Given the description of an element on the screen output the (x, y) to click on. 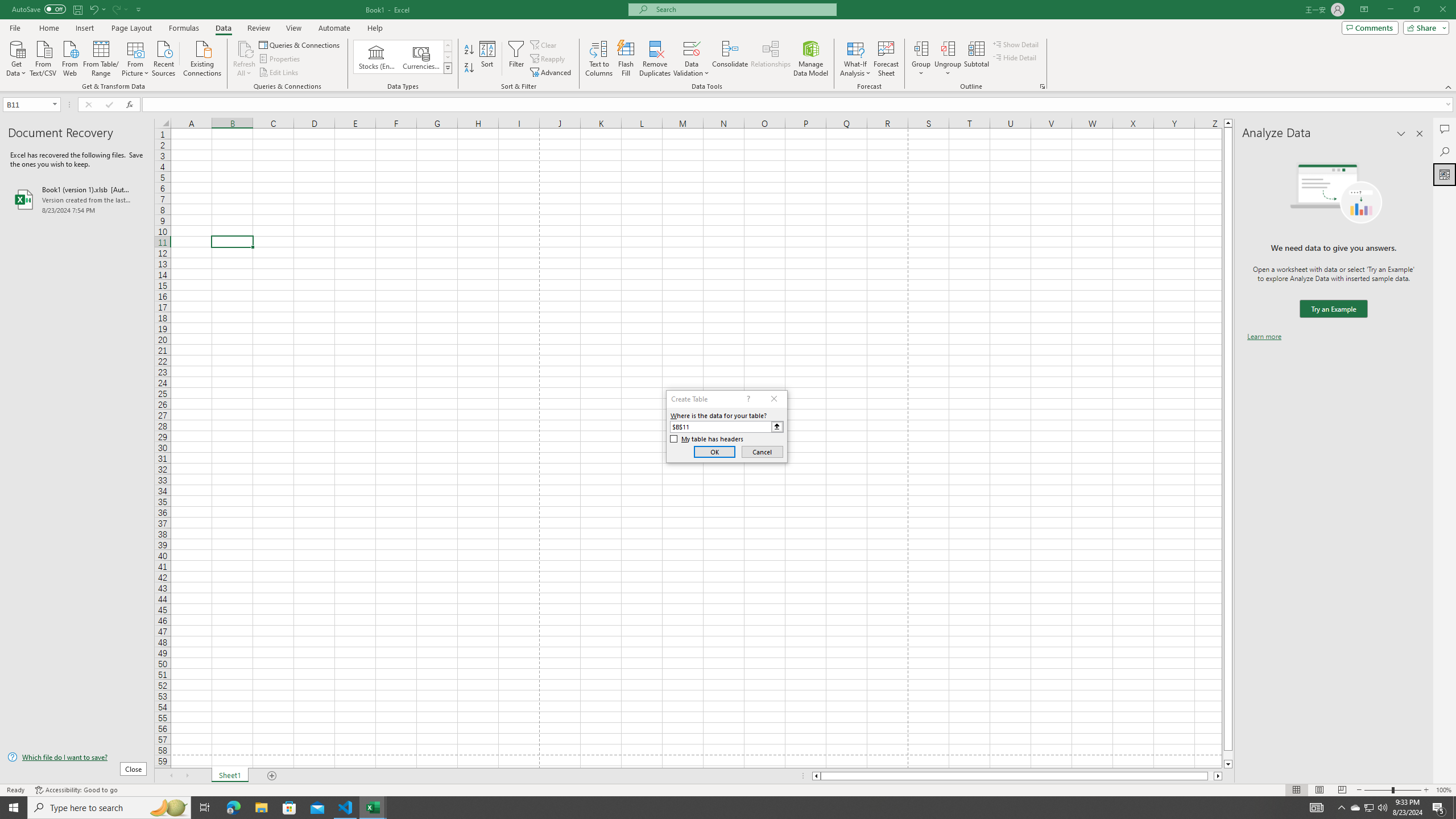
Consolidate... (729, 58)
